Given the description of an element on the screen output the (x, y) to click on. 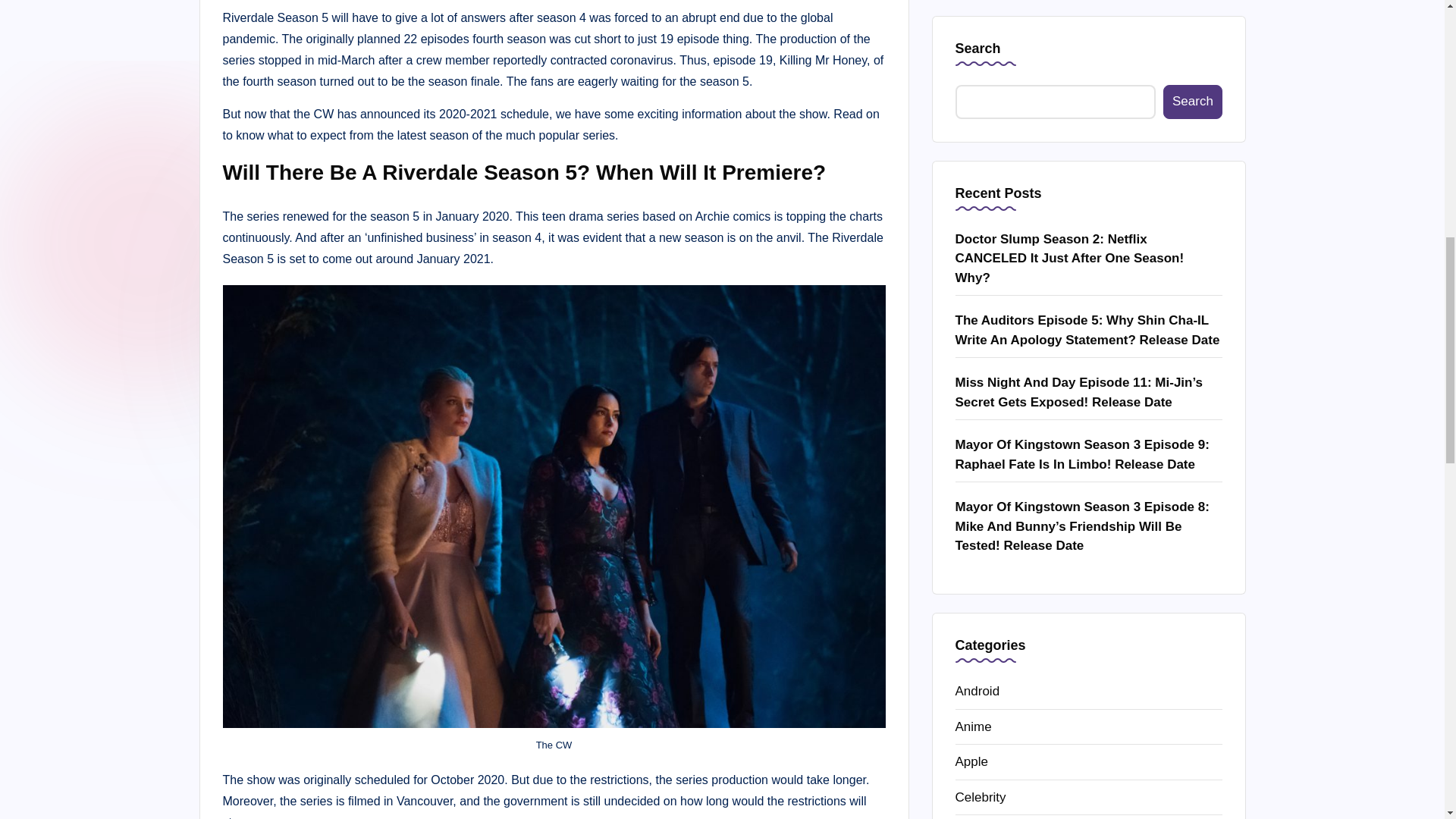
Entertainment (1089, 220)
Apple (1089, 114)
Days of Our Lives (1089, 184)
Celebrity (1089, 149)
Anime (1089, 79)
Android (1089, 44)
